Given the description of an element on the screen output the (x, y) to click on. 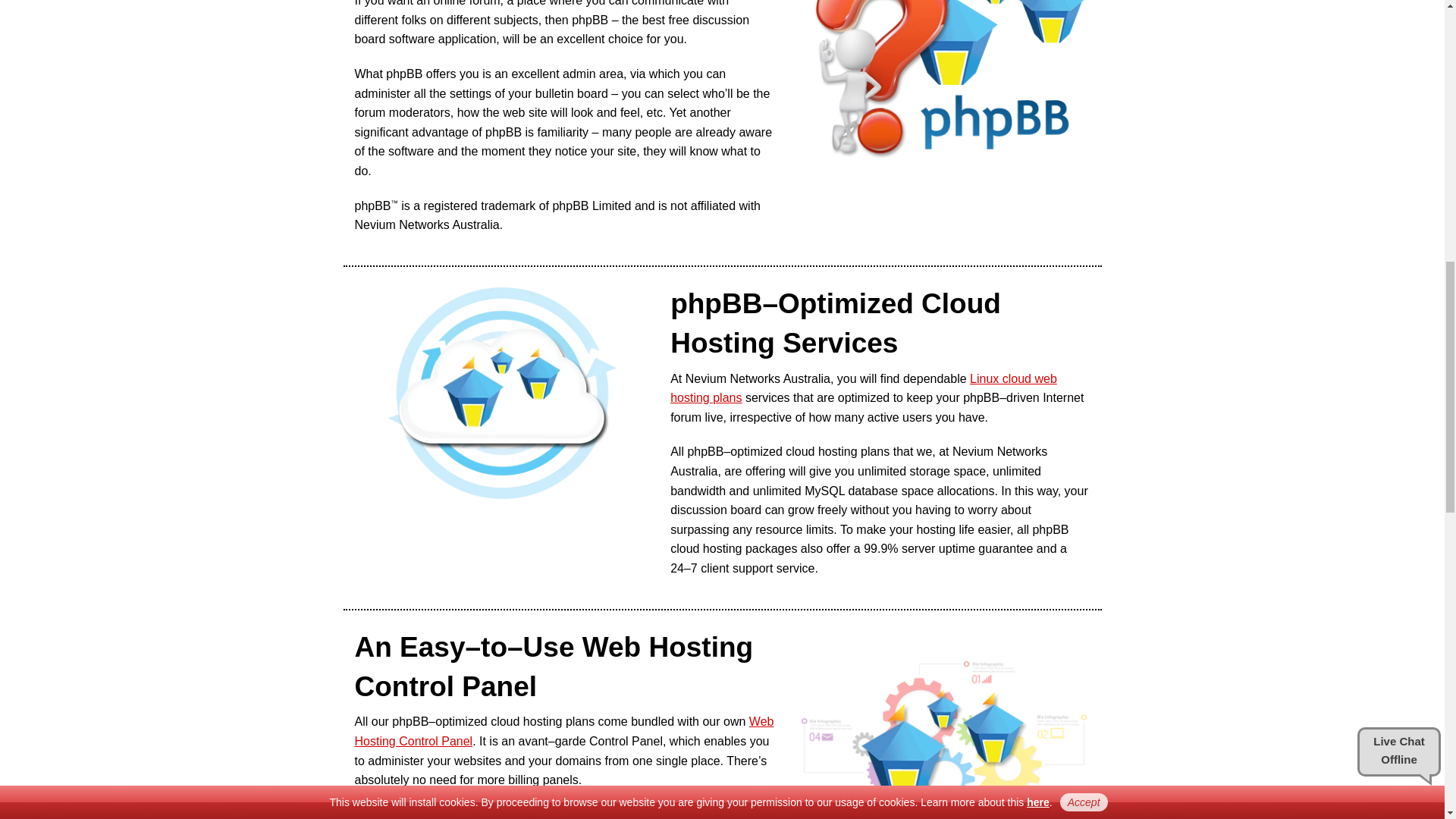
Linux cloud web hosting plans (863, 388)
